Given the description of an element on the screen output the (x, y) to click on. 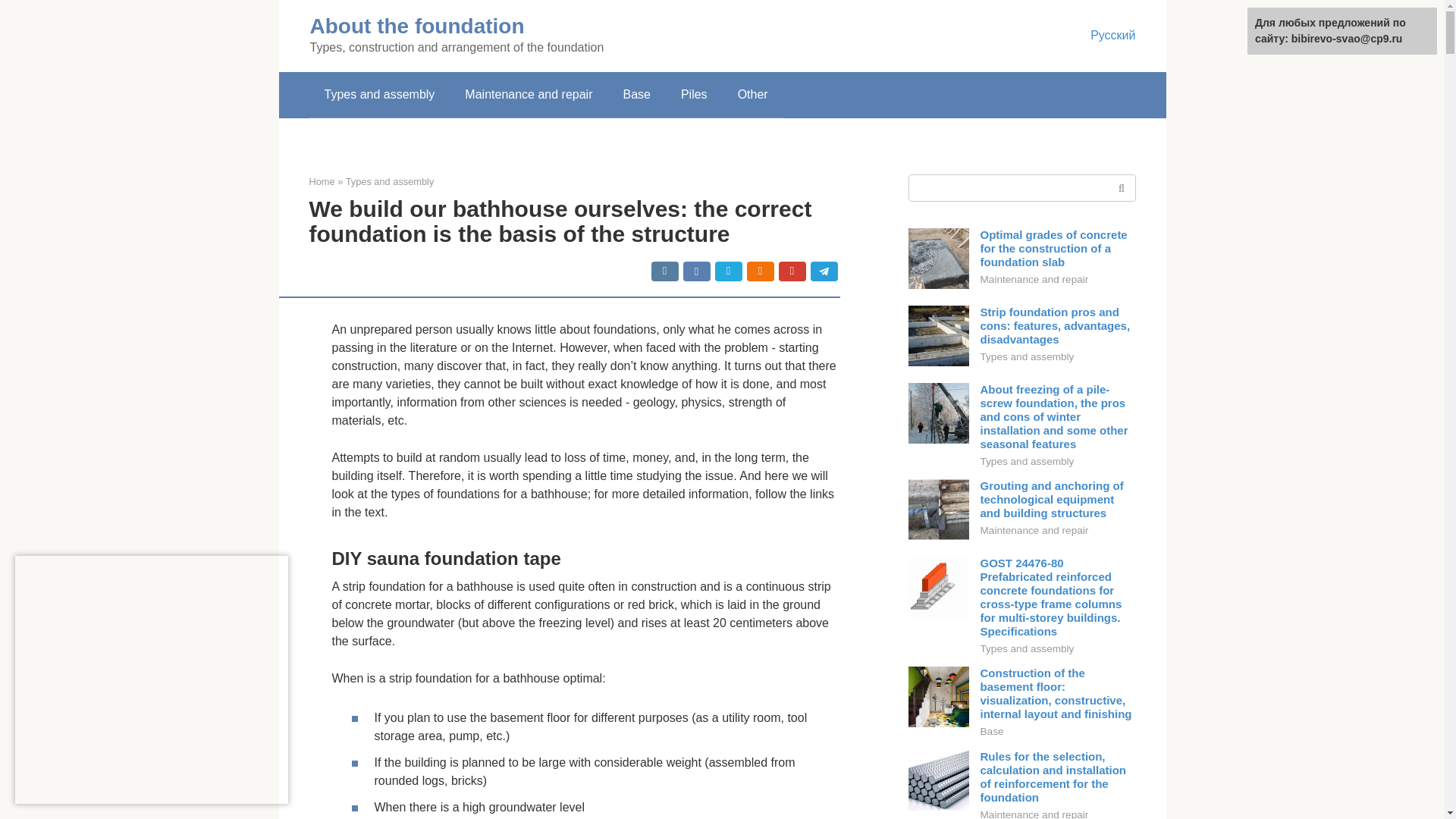
Home (321, 181)
Types and assembly (378, 94)
Maintenance and repair (528, 94)
Types and assembly (389, 181)
Other (752, 94)
About the foundation (416, 25)
Piles (693, 94)
Base (636, 94)
